Given the description of an element on the screen output the (x, y) to click on. 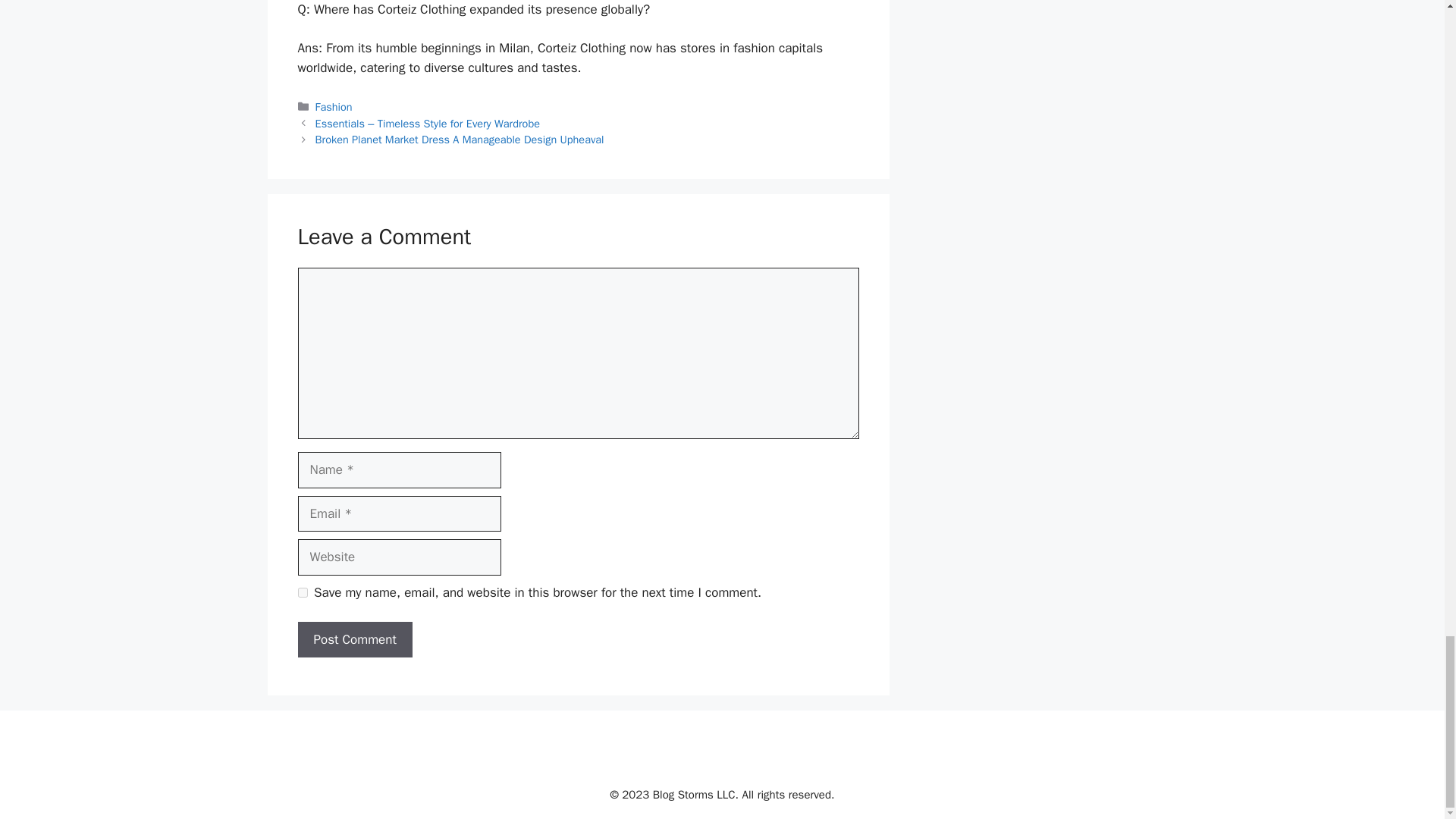
yes (302, 592)
Post Comment (354, 639)
